Given the description of an element on the screen output the (x, y) to click on. 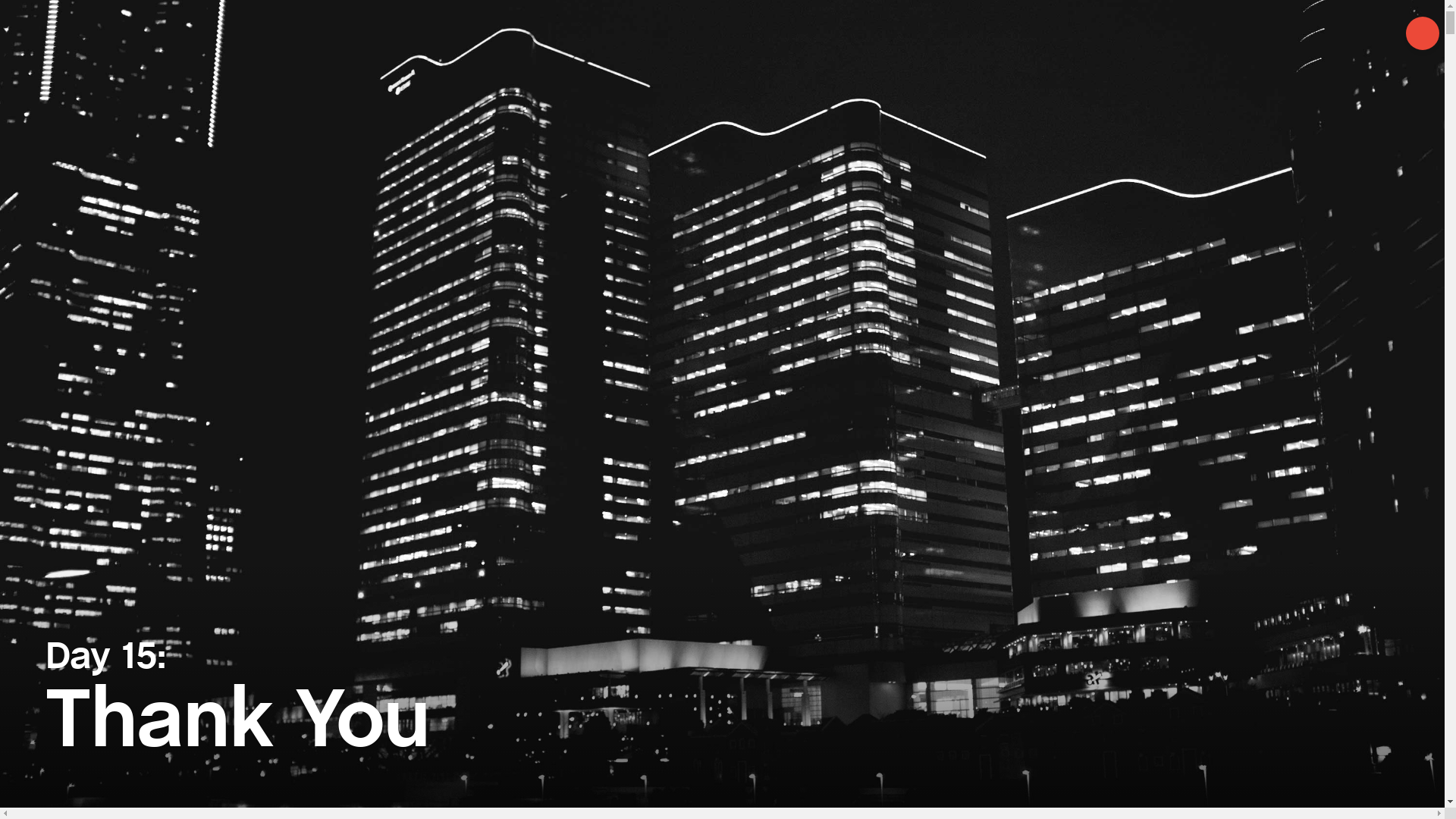
Day 4:
Geek Temples of Akihabara Element type: text (1329, 609)
Day 1:
From London to Shibuya Element type: text (1329, 134)
Day 3:
Roppongi Hills Element type: text (1329, 456)
Day 2:
Wedding at the Meiji Jingu Shrine Element type: text (1329, 295)
Day 5:
Enter the Ryokan Element type: text (1329, 762)
